Given the description of an element on the screen output the (x, y) to click on. 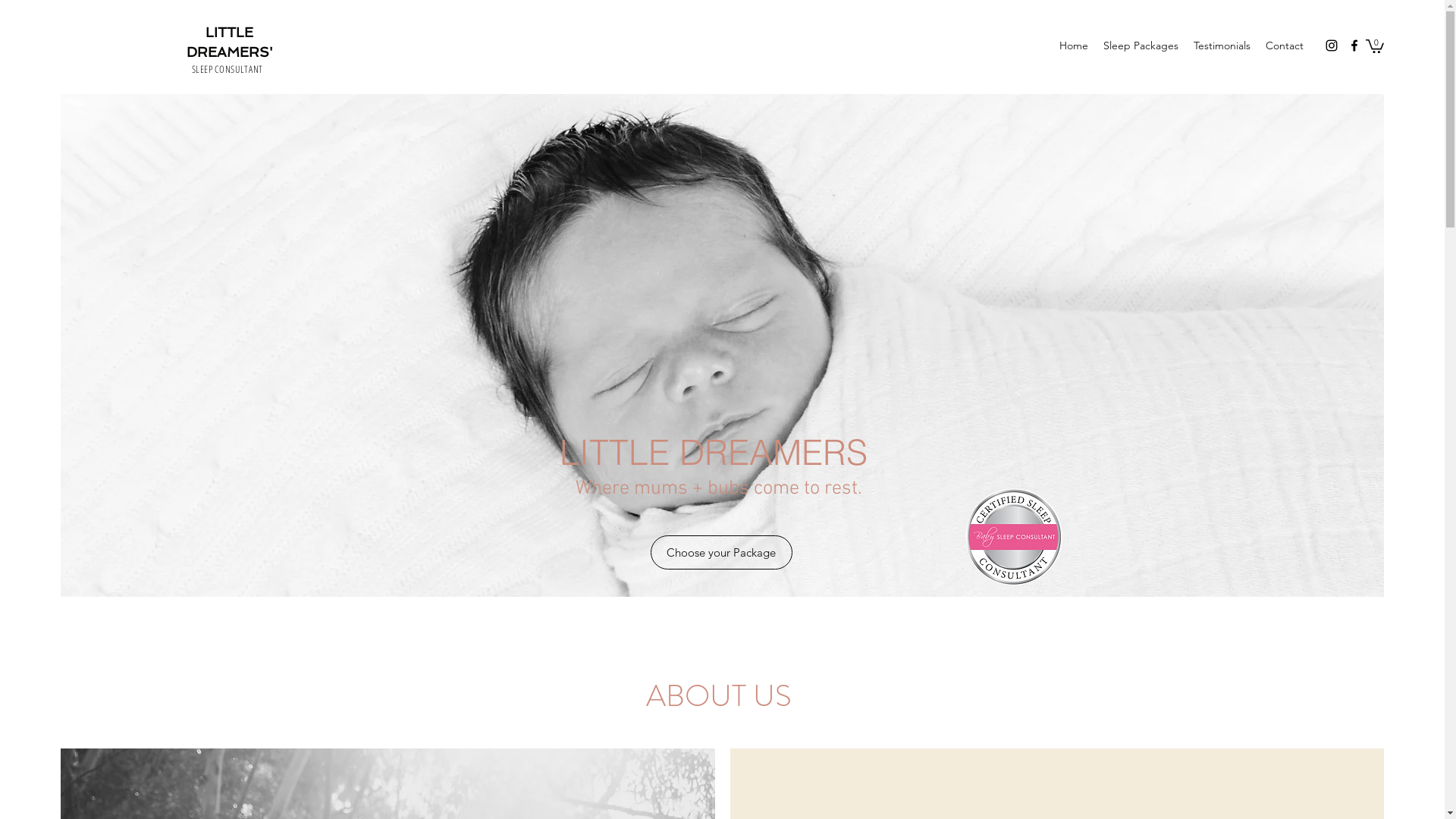
Contact Element type: text (1284, 45)
0 Element type: text (1374, 45)
Testimonials Element type: text (1222, 45)
Home Element type: text (1073, 45)
Sleep Packages Element type: text (1140, 45)
Choose your Package Element type: text (721, 552)
